Given the description of an element on the screen output the (x, y) to click on. 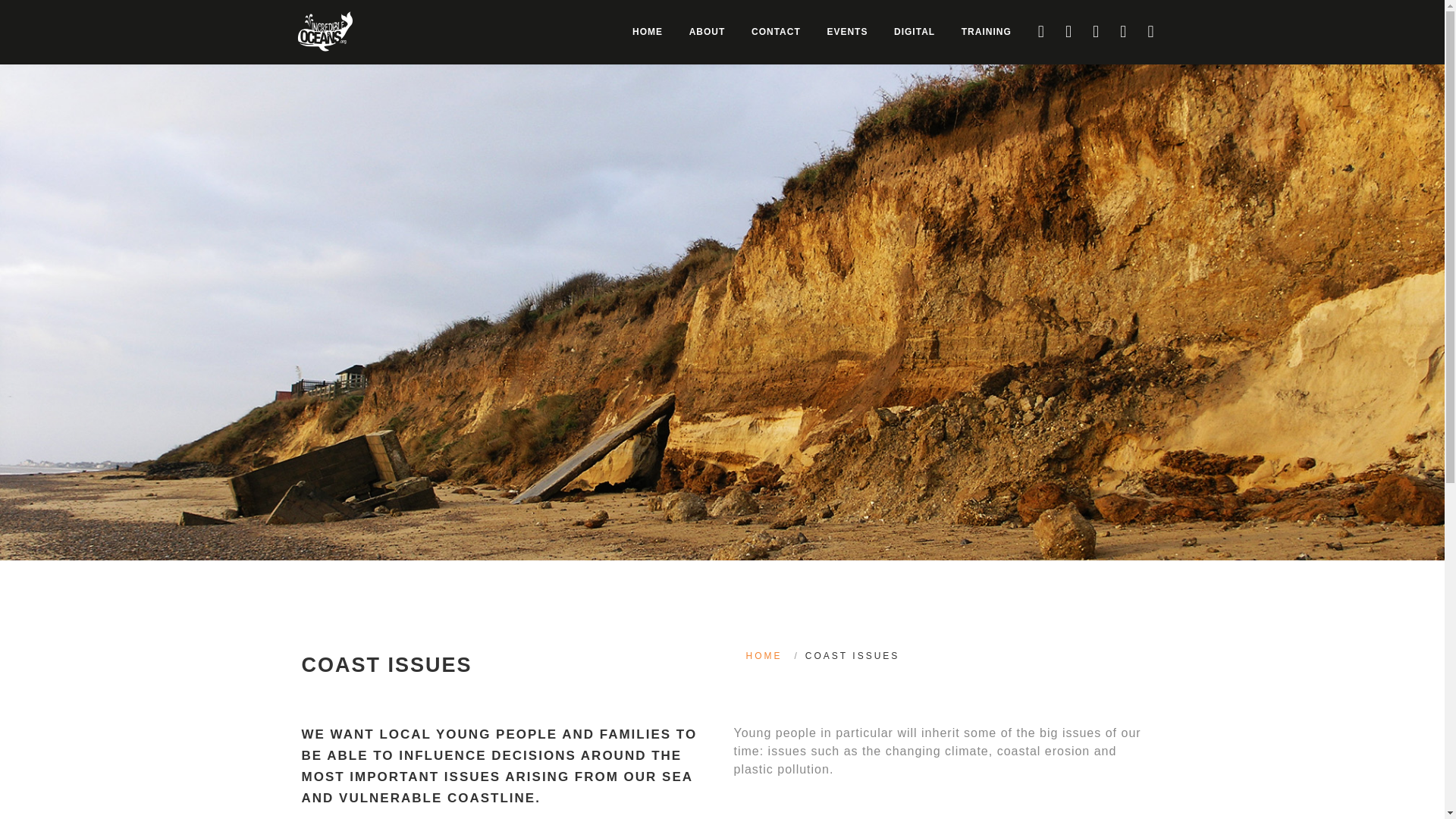
TRAINING (986, 31)
EVENTS (847, 31)
DIGITAL (914, 31)
HOME (764, 656)
CONTACT (775, 31)
ABOUT (707, 31)
